Given the description of an element on the screen output the (x, y) to click on. 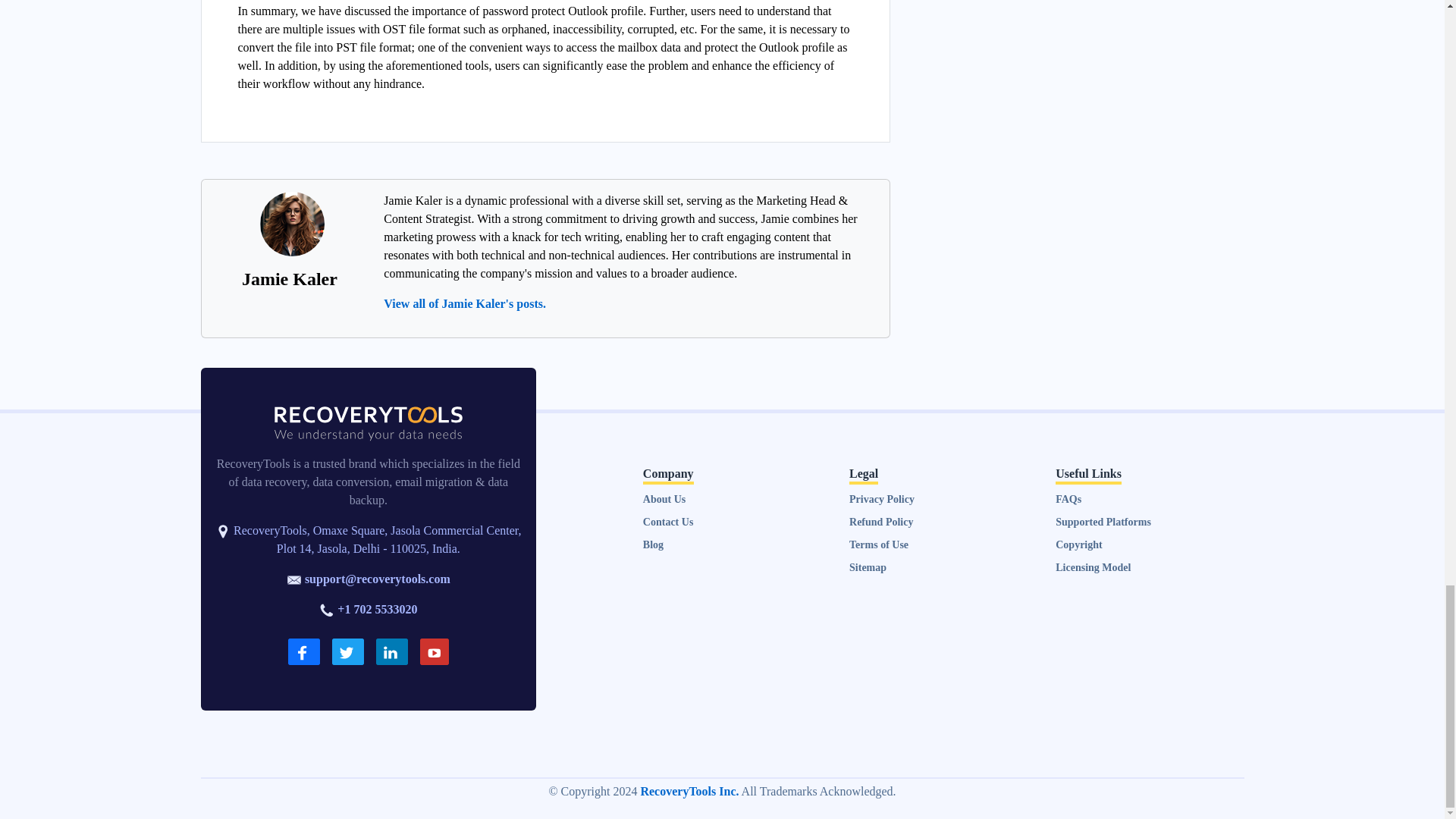
View all of Jamie Kaler's posts. (465, 303)
About Us (664, 499)
Contact Us (668, 521)
